Given the description of an element on the screen output the (x, y) to click on. 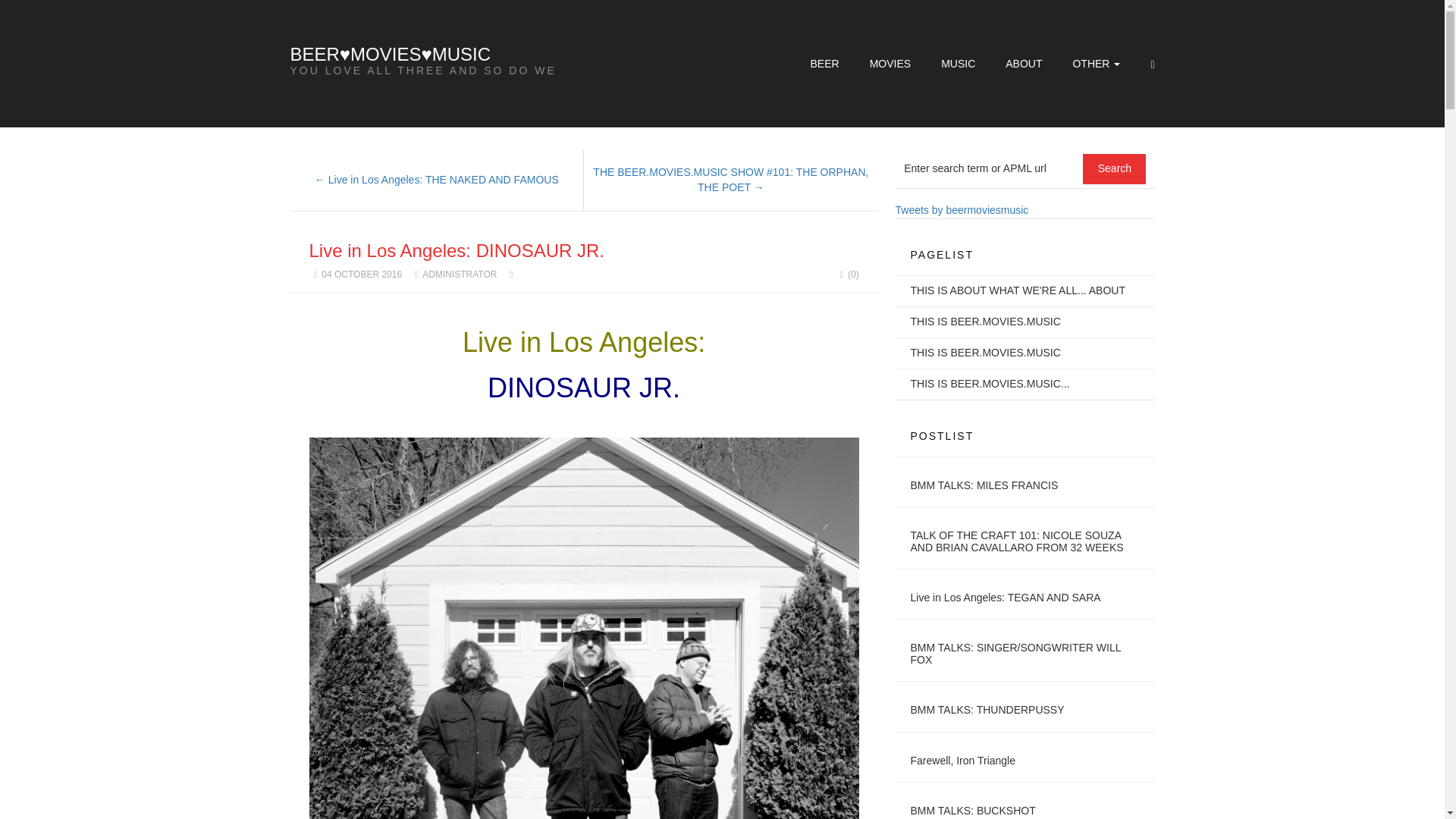
Tweets by beermoviesmusic (961, 209)
This page is all about MOVIES! (984, 321)
Enter search term or APML url (989, 168)
THIS IS ABOUT WHAT WE'RE ALL... ABOUT (1017, 290)
Search (1114, 168)
BMM TALKS: MILES FRANCIS (984, 485)
MUSIC (957, 63)
OTHER (1095, 63)
THIS IS BEER.MOVIES.MUSIC (984, 321)
THIS IS BEER.MOVIES.MUSIC (984, 352)
ADMINISTRATOR (459, 274)
THIS IS BEER.MOVIES.MUSIC... (989, 383)
ABOUT (1024, 63)
Live in Los Angeles: TEGAN AND SARA (1005, 597)
